Given the description of an element on the screen output the (x, y) to click on. 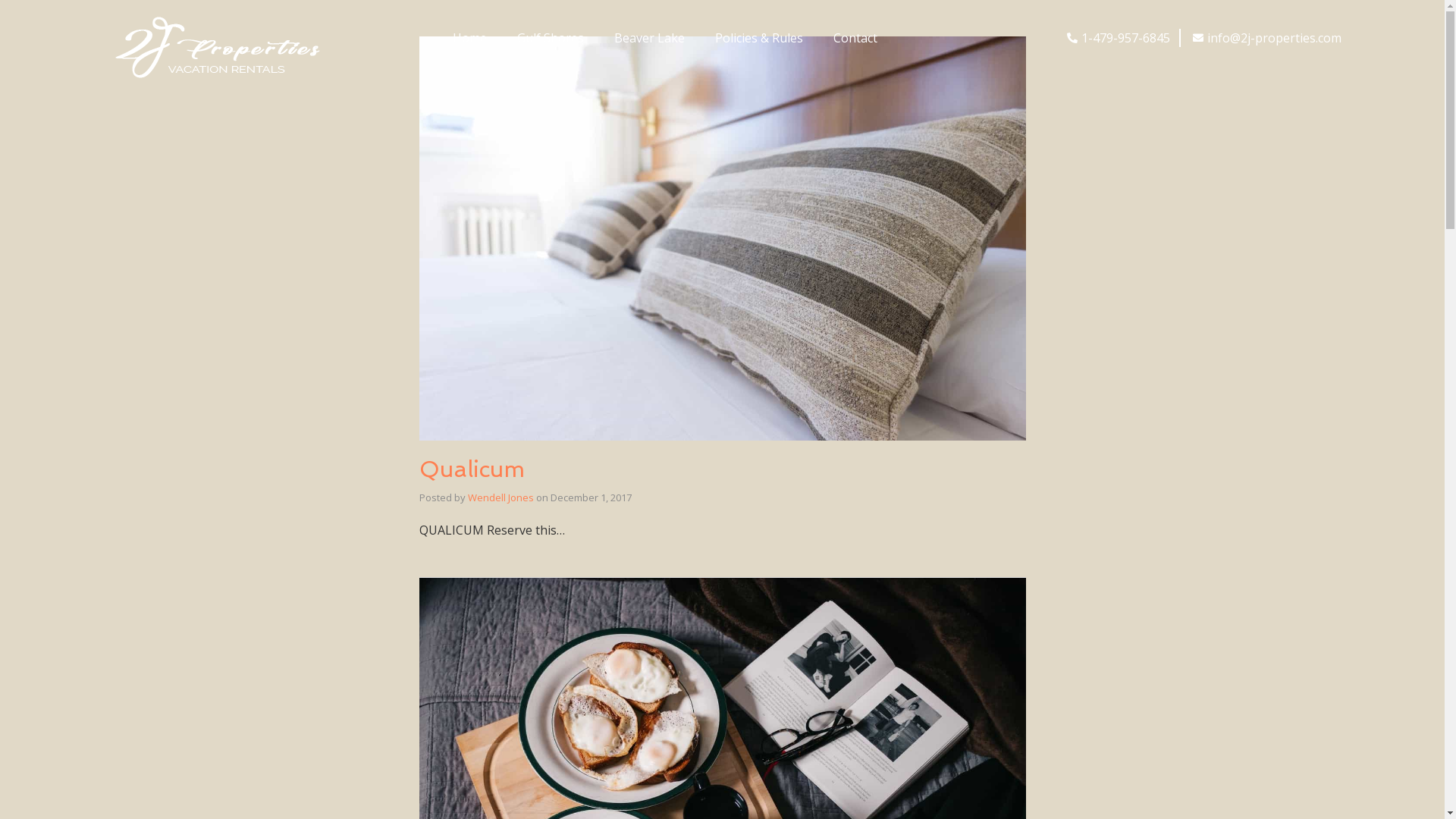
Beaver Lake Element type: text (649, 37)
Wendell Jones Element type: text (500, 497)
1-479-957-6845 Element type: text (1116, 37)
Policies & Rules Element type: text (758, 37)
Contact Element type: text (855, 37)
Gulf Shores Element type: text (550, 37)
Qualicum Element type: text (471, 468)
Home Element type: text (469, 37)
header-logo.png Element type: hover (216, 45)
info@2j-properties.com Element type: text (1266, 37)
